Given the description of an element on the screen output the (x, y) to click on. 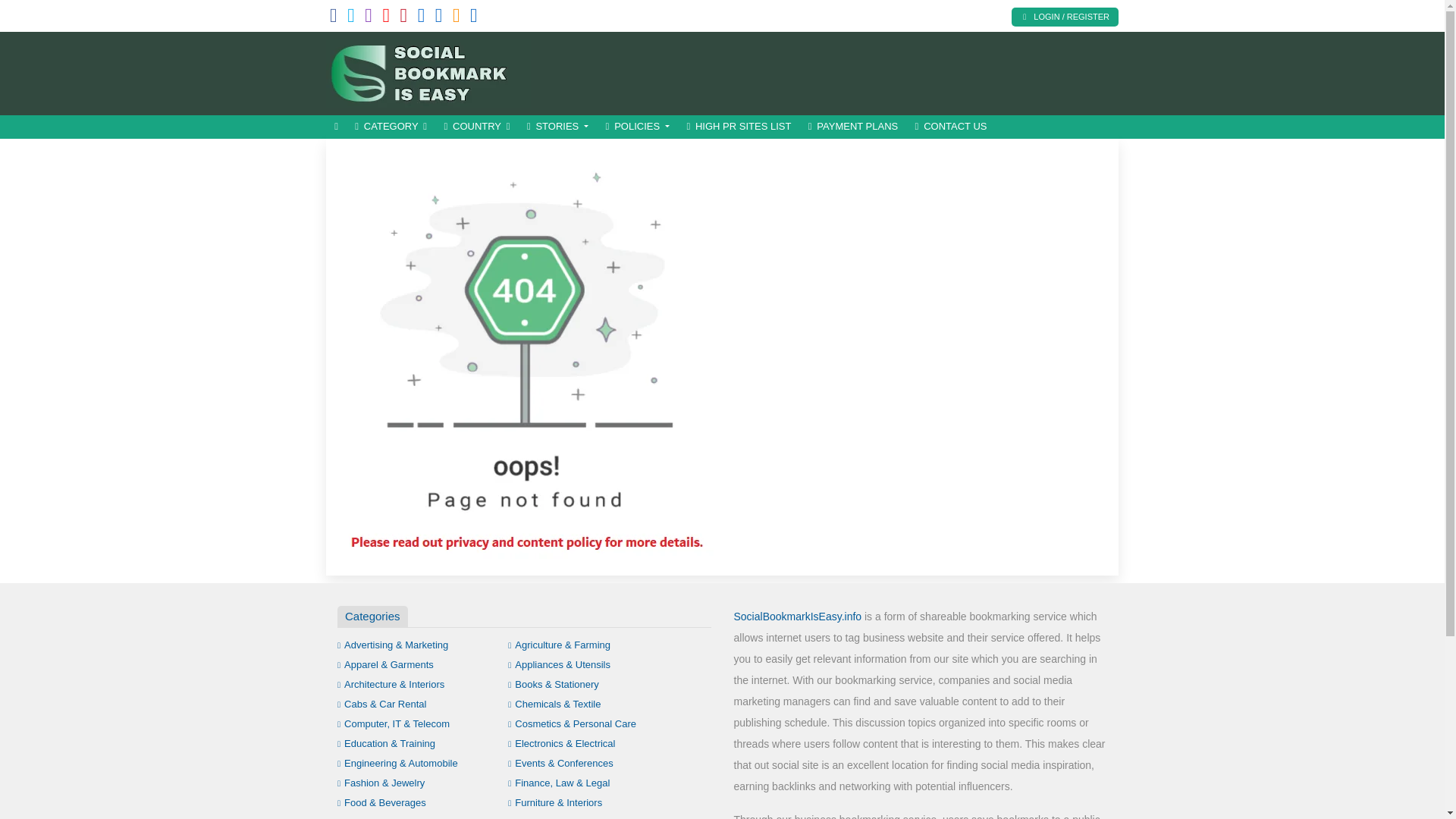
CATEGORY (390, 126)
